Given the description of an element on the screen output the (x, y) to click on. 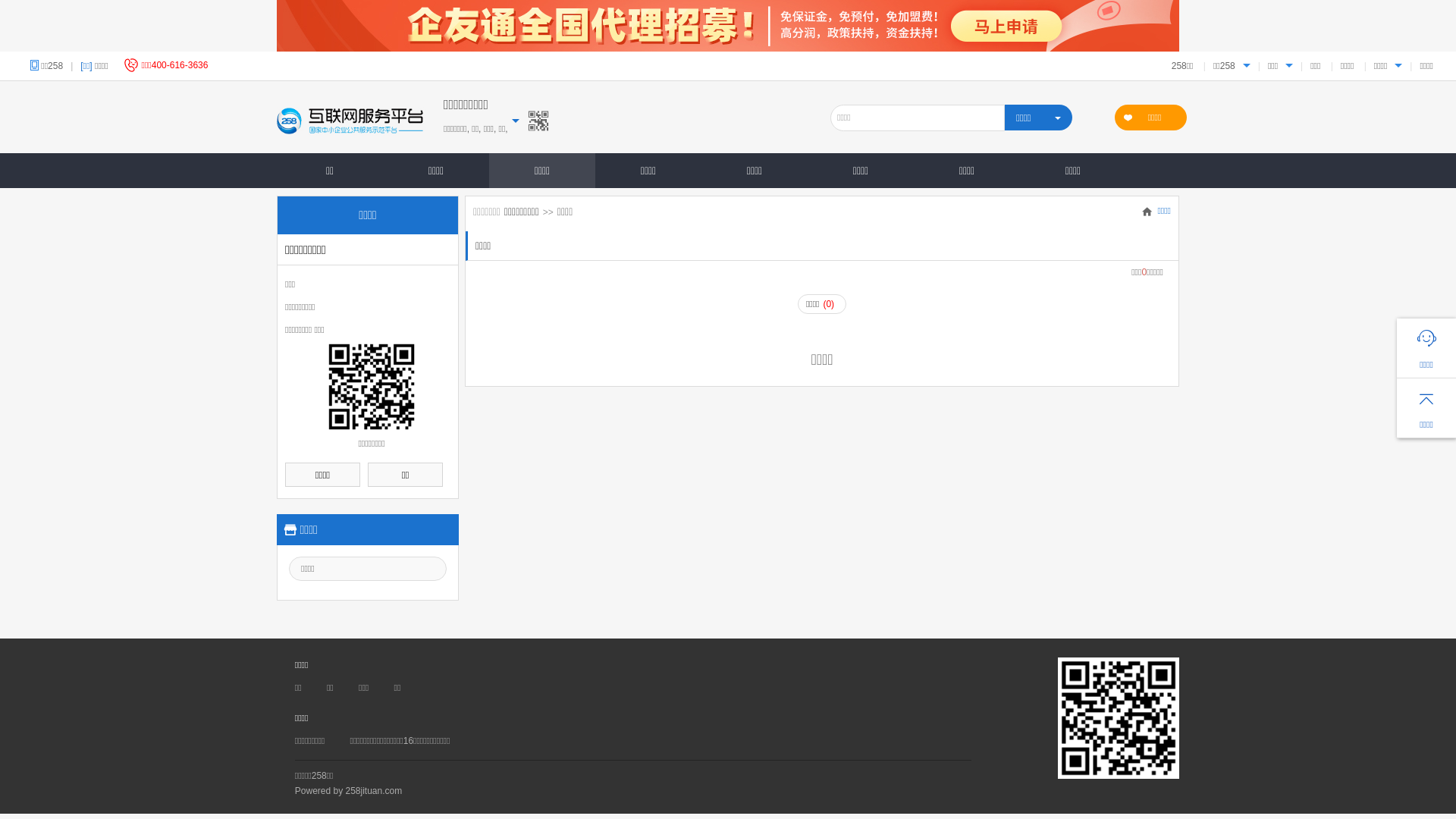
http://m.258jituan.com/shop-lwbgtjy972 Element type: hover (371, 386)
